Given the description of an element on the screen output the (x, y) to click on. 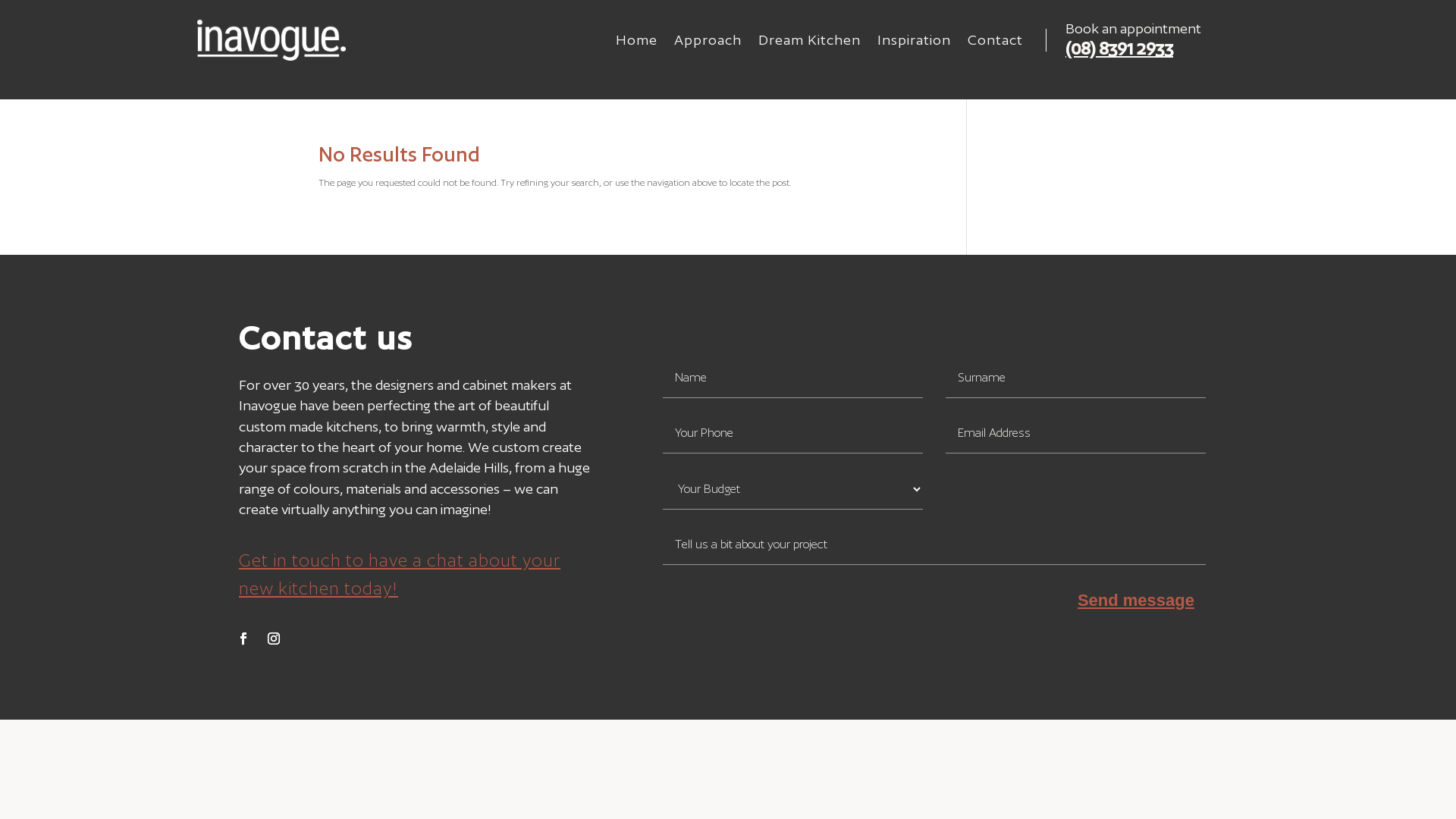
Contact Element type: text (994, 42)
Approach Element type: text (707, 42)
Follow on Instagram Element type: hover (273, 638)
Inspiration Element type: text (913, 42)
Send message Element type: text (1135, 600)
Follow on Facebook Element type: hover (243, 638)
inavogue white logo Element type: hover (271, 39)
(08) 8391 2933 Element type: text (1119, 47)
Dream Kitchen Element type: text (809, 42)
Get in touch to have a chat about your new kitchen today! Element type: text (399, 573)
Home Element type: text (636, 42)
